Given the description of an element on the screen output the (x, y) to click on. 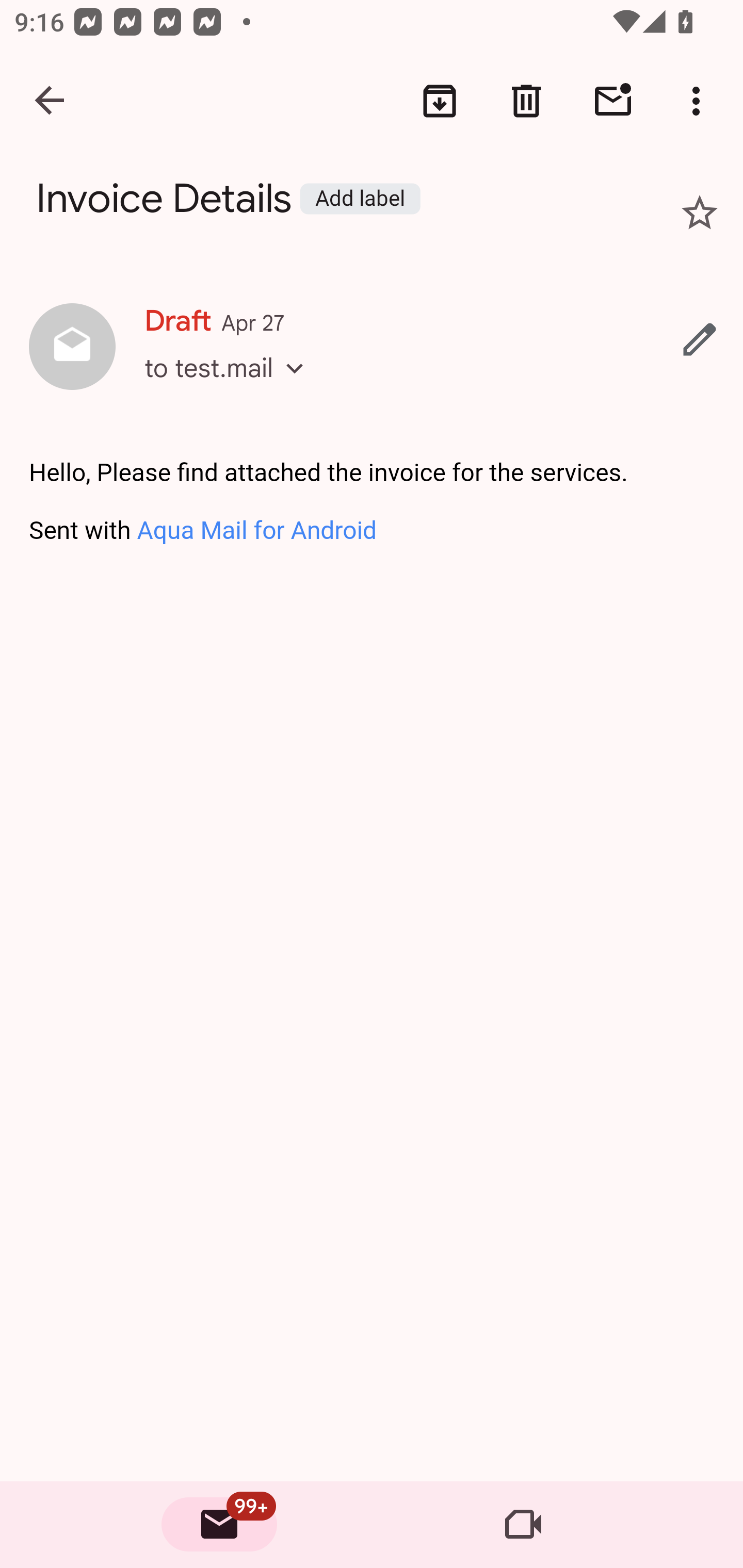
Navigate up (50, 101)
Archive (439, 101)
Delete (525, 101)
Mark unread (612, 101)
More options (699, 101)
Add star (699, 212)
Draft Apr 27 to test.mail Edit (371, 347)
Edit (699, 339)
to test.mail (230, 386)
